Given the description of an element on the screen output the (x, y) to click on. 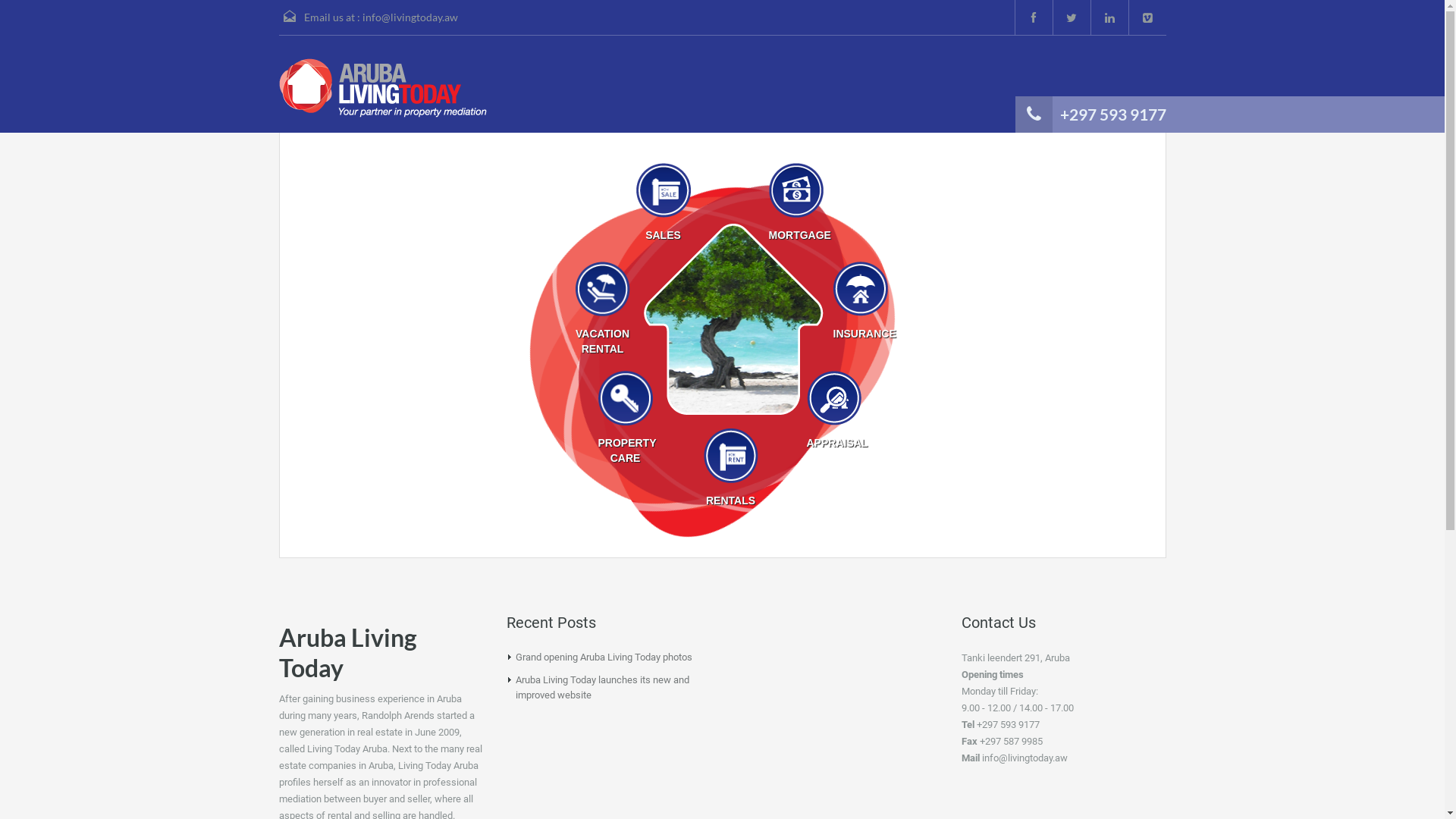
Grand opening Aruba Living Today photos Element type: text (603, 656)
INSURANCE Element type: text (859, 301)
APPRAISAL Element type: text (833, 410)
MORTGAGE Element type: text (795, 202)
VACATION RENTAL Element type: text (601, 308)
info@livingtoday.aw Element type: text (410, 16)
Aruba Living Today launches its new and improved website Element type: text (602, 687)
SALES Element type: text (662, 202)
Aruba Living Today Element type: hover (382, 87)
RENTALS Element type: text (730, 468)
PROPERTY CARE Element type: text (624, 417)
